Given the description of an element on the screen output the (x, y) to click on. 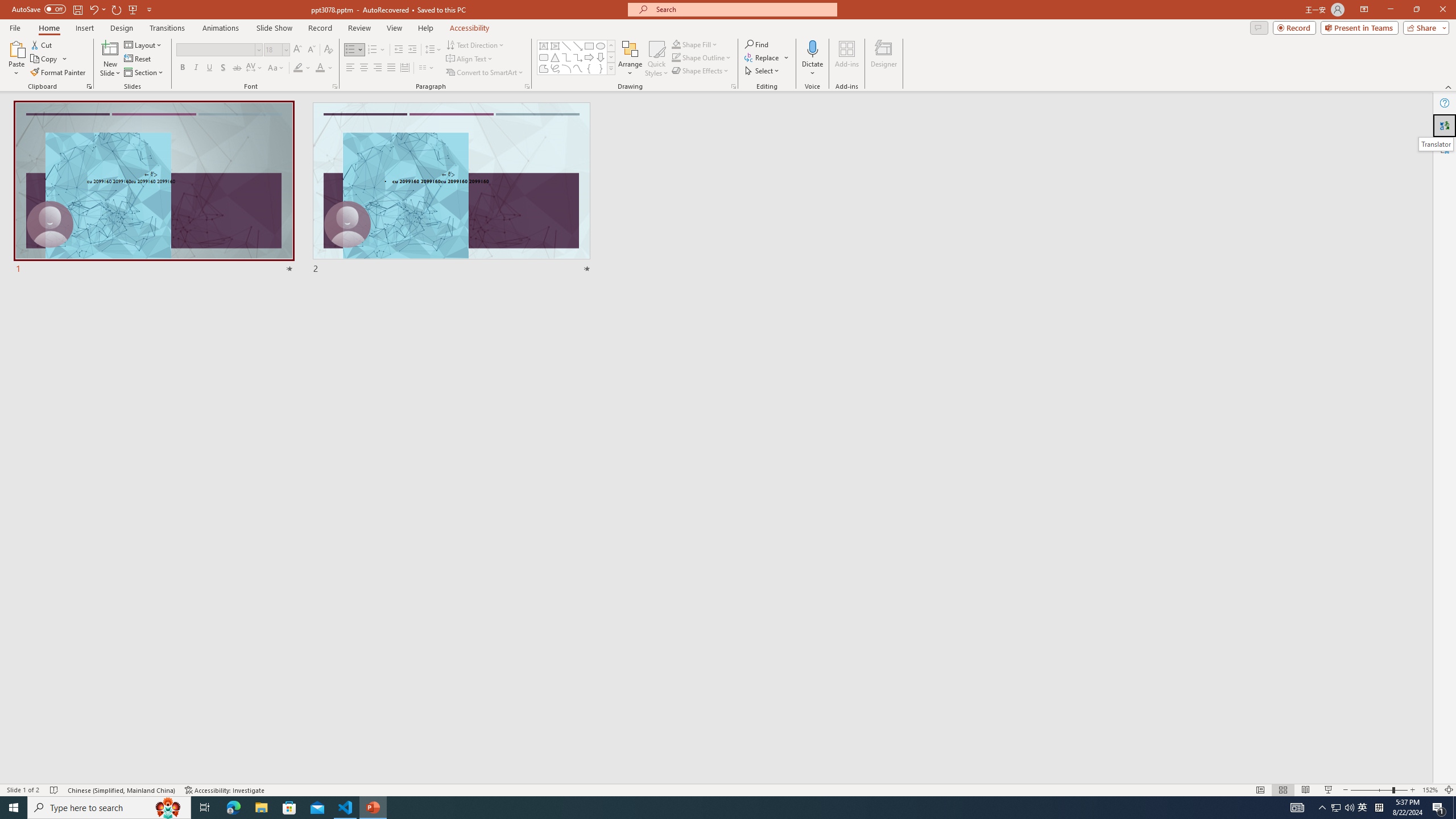
Increase Indent (412, 49)
Freeform: Shape (543, 68)
Curve (577, 68)
Share (1423, 27)
Arrow: Down (600, 57)
New Slide (110, 58)
Distributed (404, 67)
Format Painter (58, 72)
Align Left (349, 67)
AutomationID: ShapesInsertGallery (576, 57)
Slide (451, 188)
Vertical Text Box (554, 45)
